Given the description of an element on the screen output the (x, y) to click on. 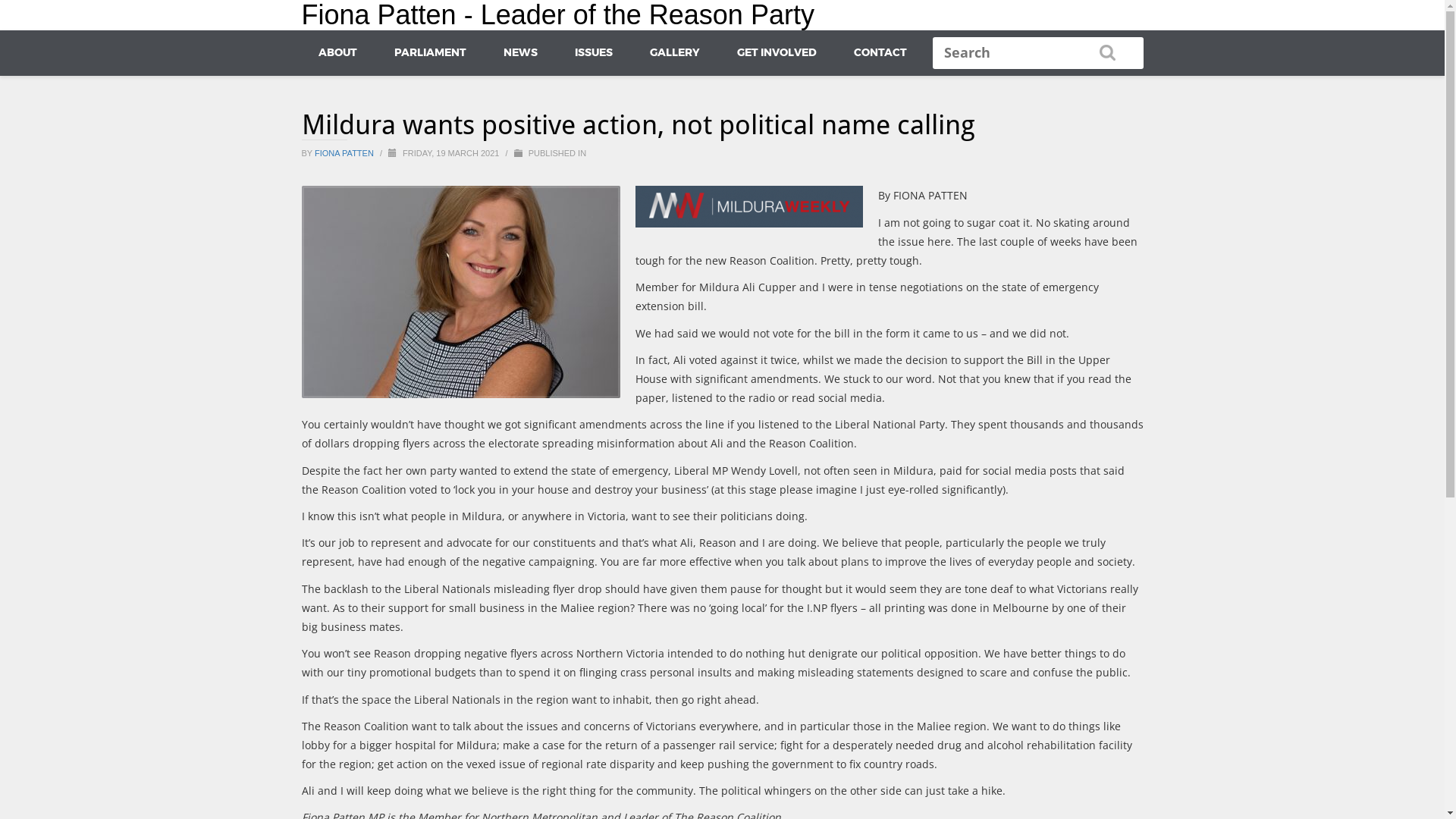
FIONA PATTEN Element type: text (345, 152)
NEWS Element type: text (520, 52)
CONTACT Element type: text (879, 52)
ISSUES Element type: text (593, 52)
PARLIAMENT Element type: text (430, 52)
GET INVOLVED Element type: text (776, 52)
ABOUT Element type: text (337, 52)
GALLERY Element type: text (674, 52)
Search for: Element type: hover (1037, 53)
Fiona Patten - Leader of the Reason Party Element type: text (557, 15)
Fiona Patten 013 Element type: hover (460, 291)
